Given the description of an element on the screen output the (x, y) to click on. 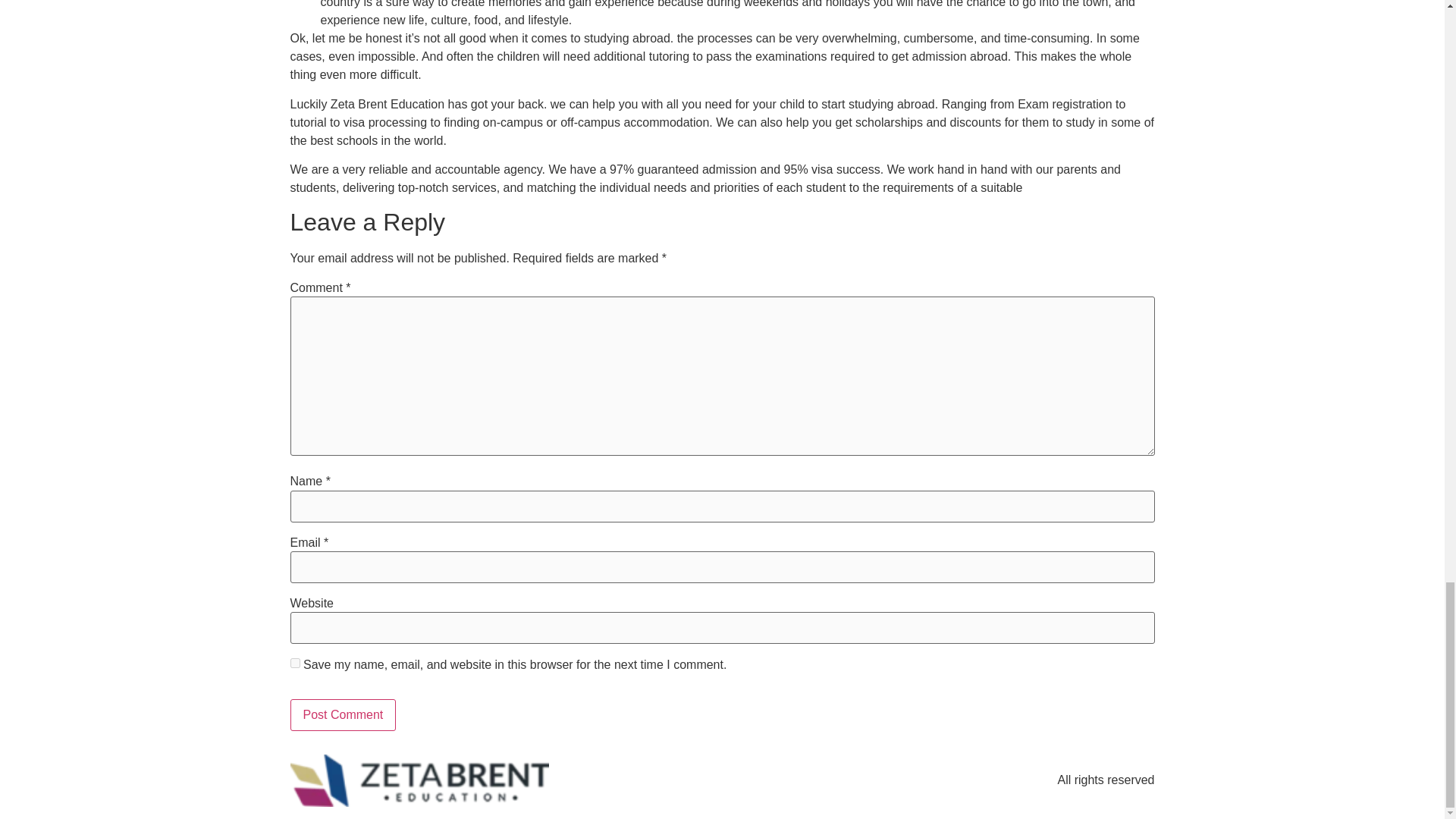
Post Comment (342, 715)
yes (294, 663)
Post Comment (342, 715)
